Given the description of an element on the screen output the (x, y) to click on. 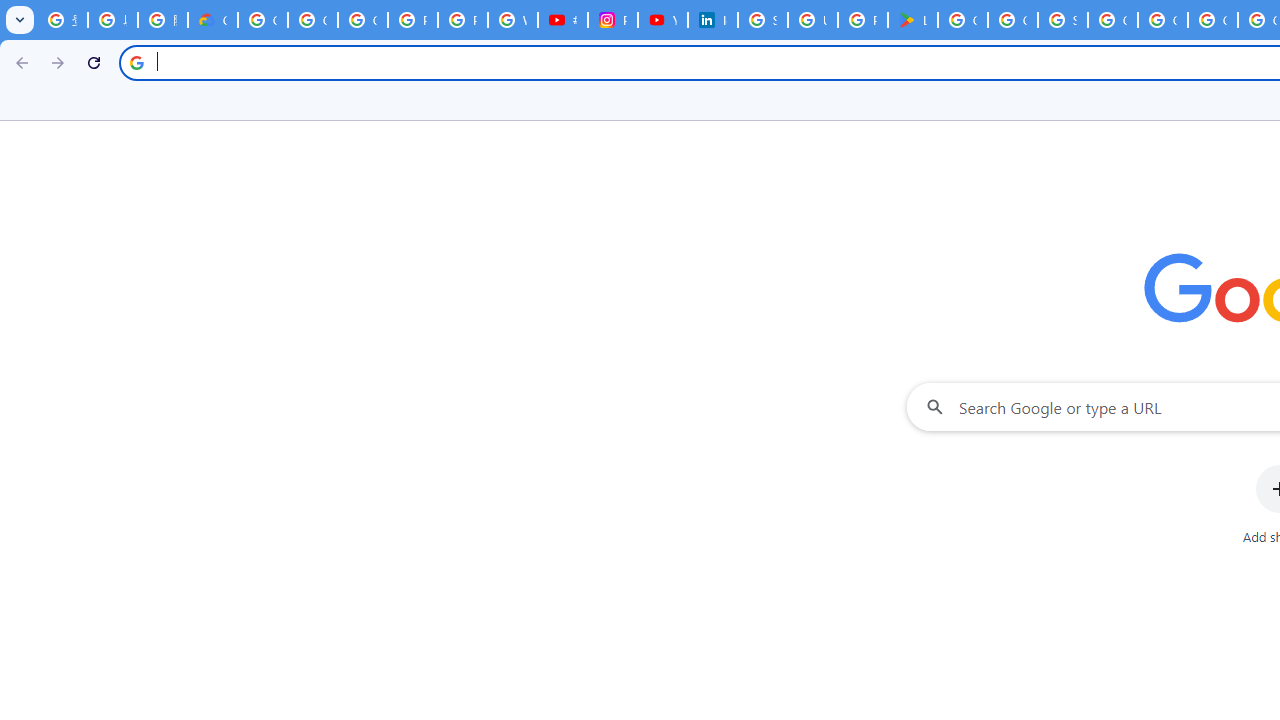
Google Workspace - Specific Terms (1013, 20)
Sign in - Google Accounts (763, 20)
Last Shelter: Survival - Apps on Google Play (913, 20)
